Given the description of an element on the screen output the (x, y) to click on. 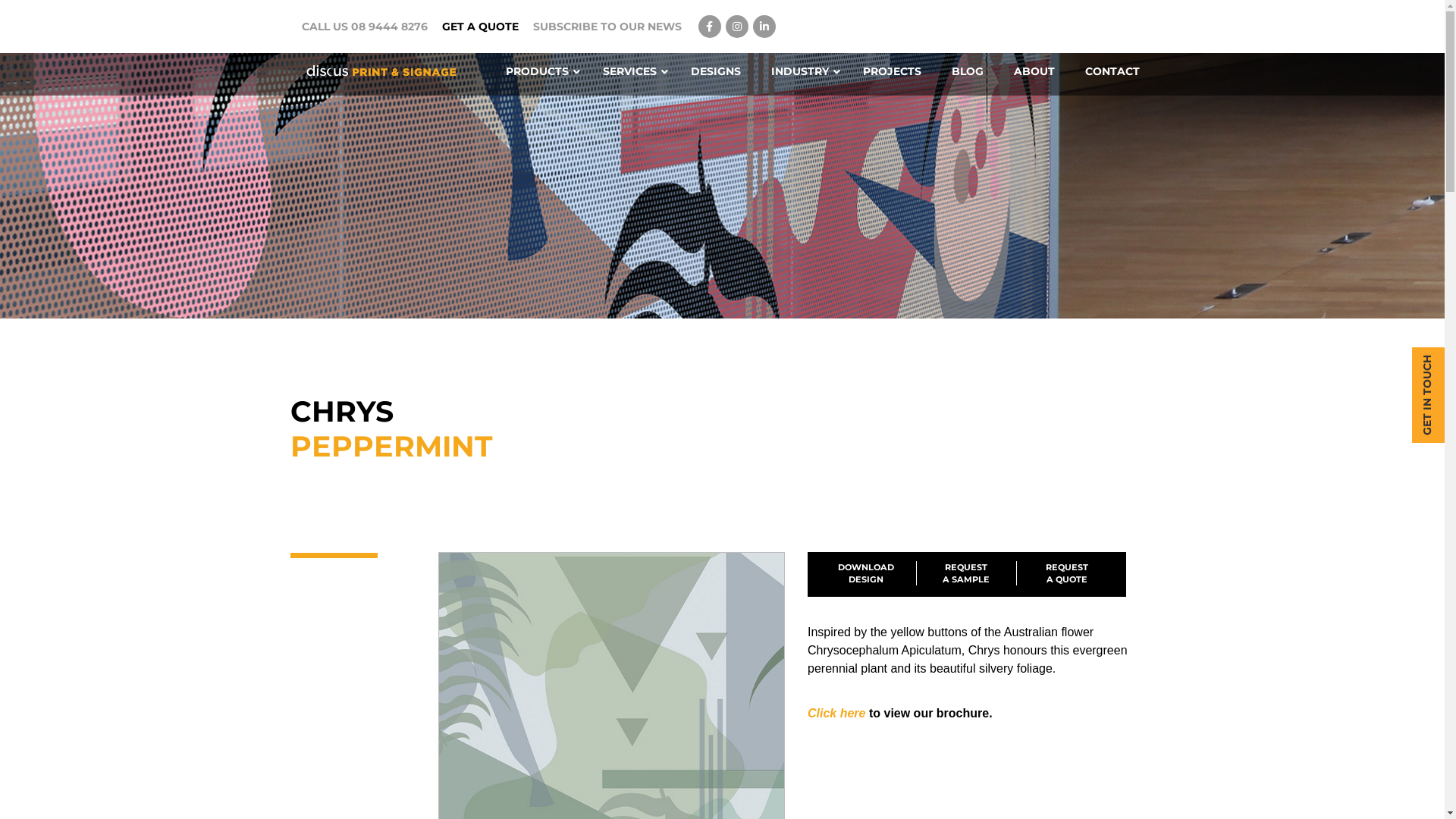
SERVICES Element type: text (630, 71)
CONTACT Element type: text (1111, 71)
PROJECTS Element type: text (891, 71)
INDUSTRY Element type: text (801, 71)
DESIGNS Element type: text (714, 71)
PRODUCTS Element type: text (537, 71)
REQUEST
A QUOTE Element type: text (1066, 572)
BLOG Element type: text (966, 71)
Click here Element type: text (836, 712)
DOWNLOAD
DESIGN Element type: text (865, 572)
REQUEST
A SAMPLE Element type: text (965, 572)
ABOUT Element type: text (1033, 71)
CALL US 08 9444 8276 Element type: text (364, 26)
SUBSCRIBE TO OUR NEWS Element type: text (606, 26)
GET A QUOTE Element type: text (479, 26)
